Given the description of an element on the screen output the (x, y) to click on. 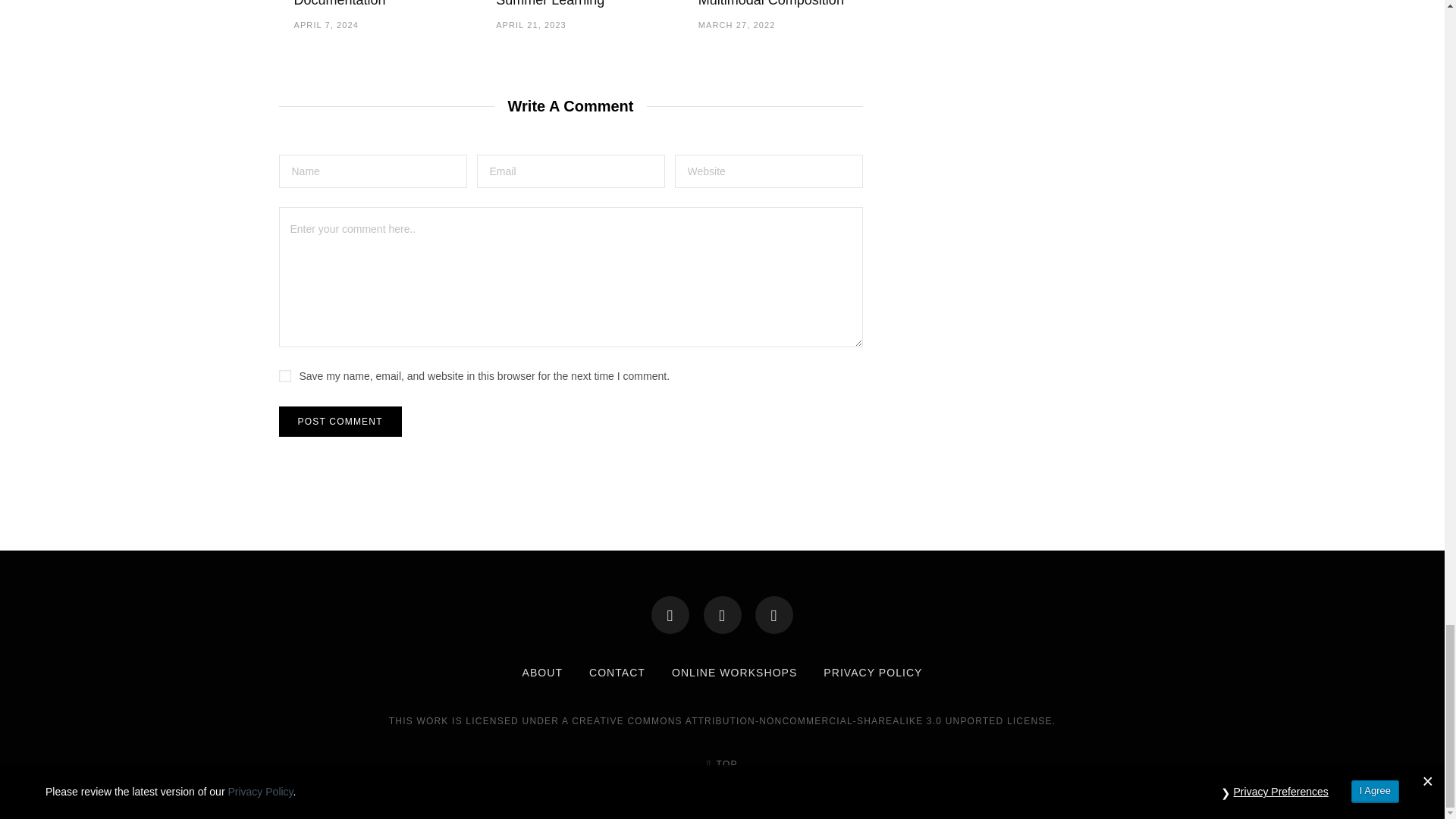
Post Comment (340, 421)
Post Comment (340, 421)
Opening Camp Rewrite for its First Season of Summer Learning (566, 3)
yes (285, 376)
